Given the description of an element on the screen output the (x, y) to click on. 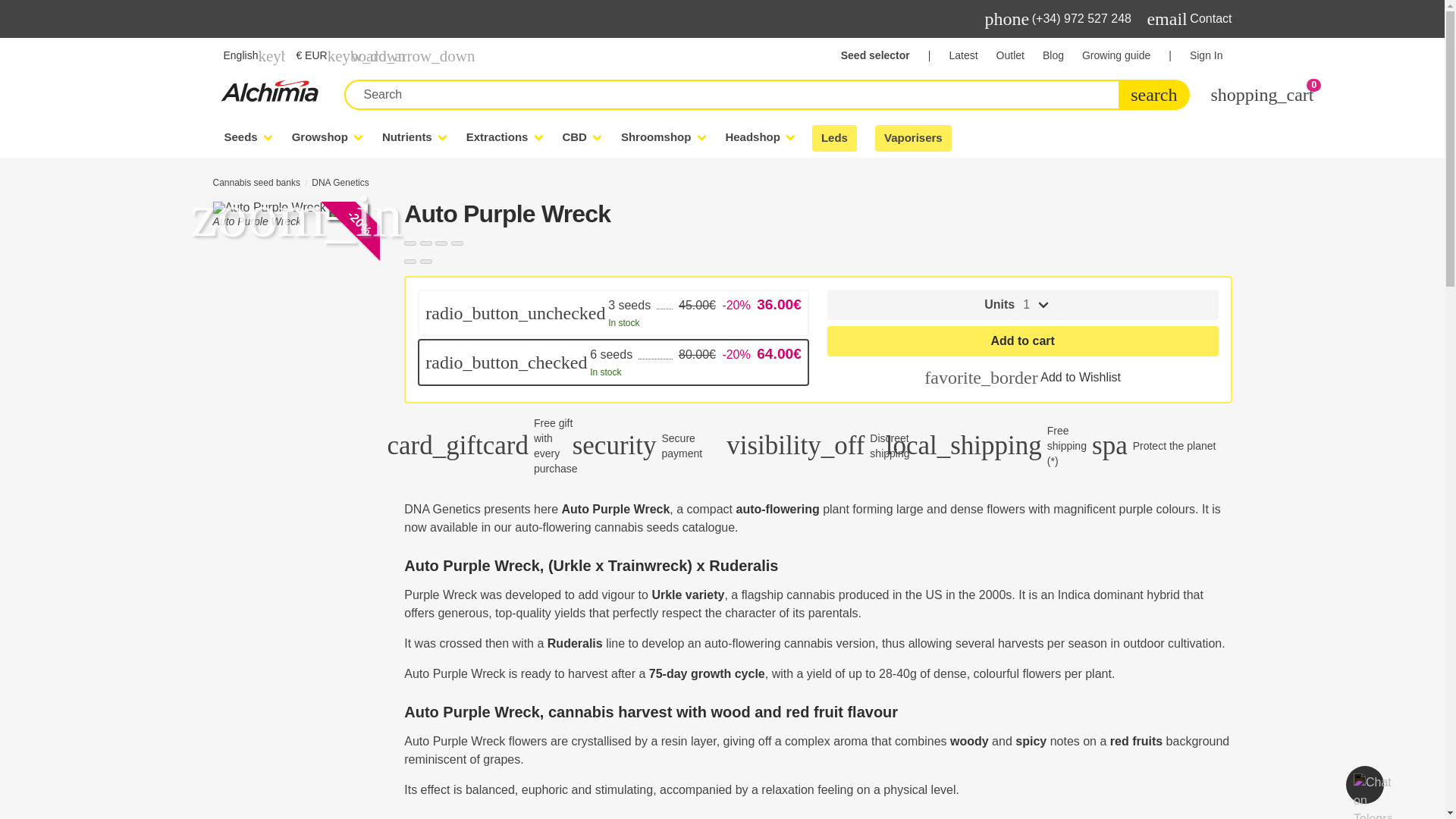
Toggle fullscreen (440, 242)
Auto Purple Wreck (296, 207)
Contact (1210, 18)
search (1153, 94)
Share (426, 242)
